Given the description of an element on the screen output the (x, y) to click on. 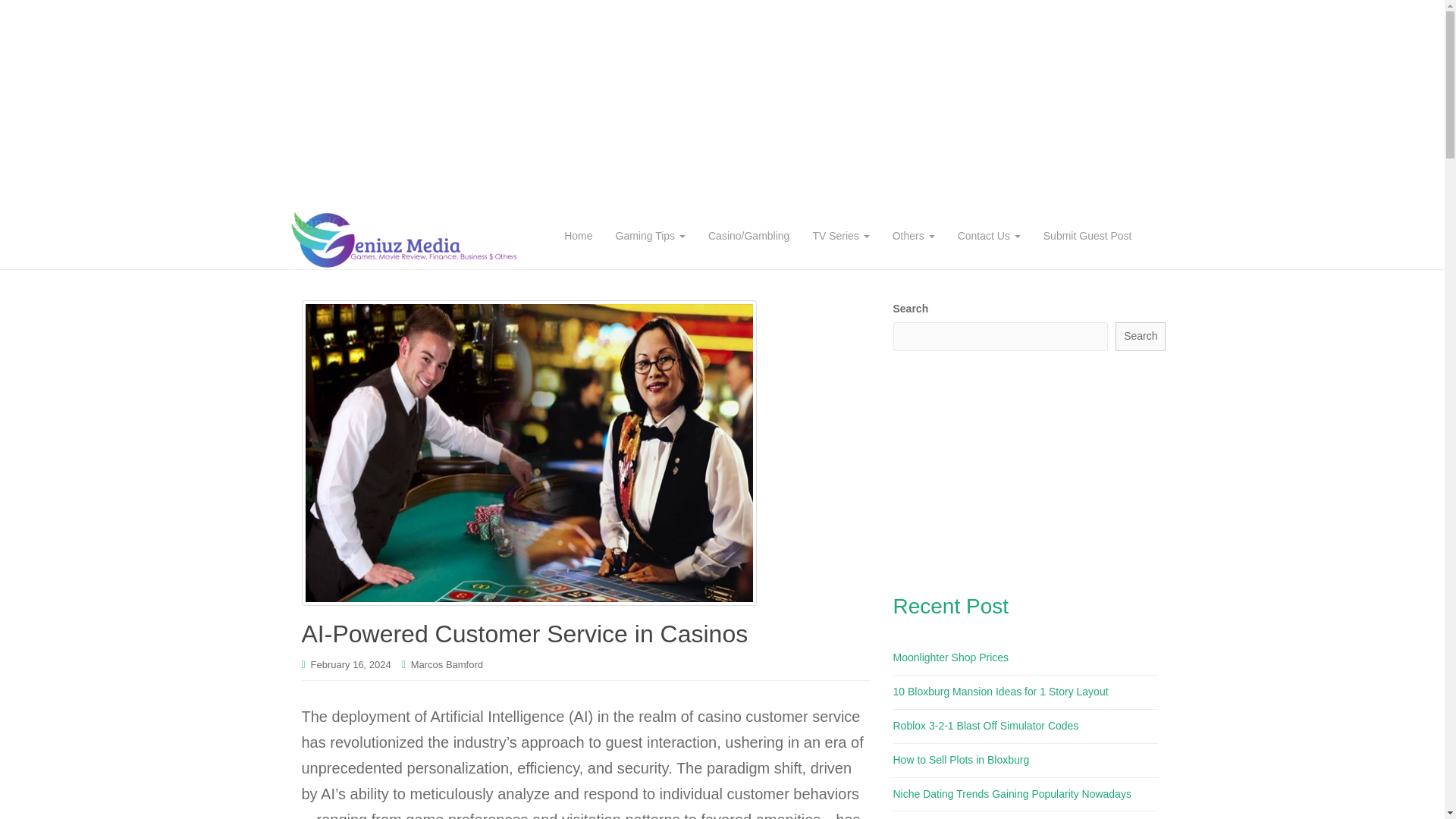
Home (578, 235)
Contact Us (989, 235)
Marcos Bamford (446, 664)
Submit Guest Post (1087, 235)
Home (578, 235)
February 16, 2024 (351, 664)
Gaming Tips (649, 235)
Others (913, 235)
TV Series (840, 235)
TV Series (840, 235)
Others (913, 235)
Gaming Tips (649, 235)
